Given the description of an element on the screen output the (x, y) to click on. 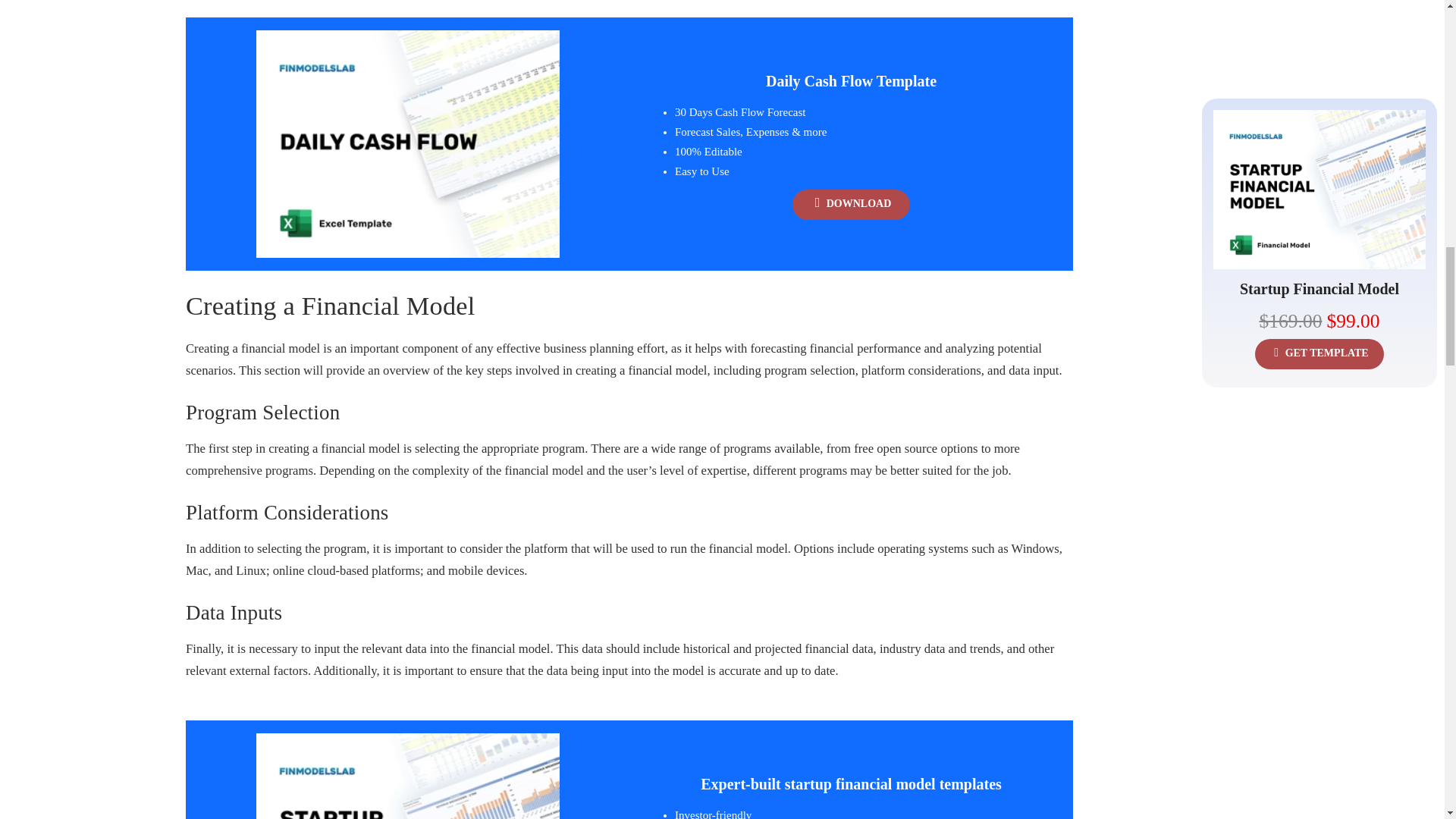
DOWNLOAD (851, 204)
